Given the description of an element on the screen output the (x, y) to click on. 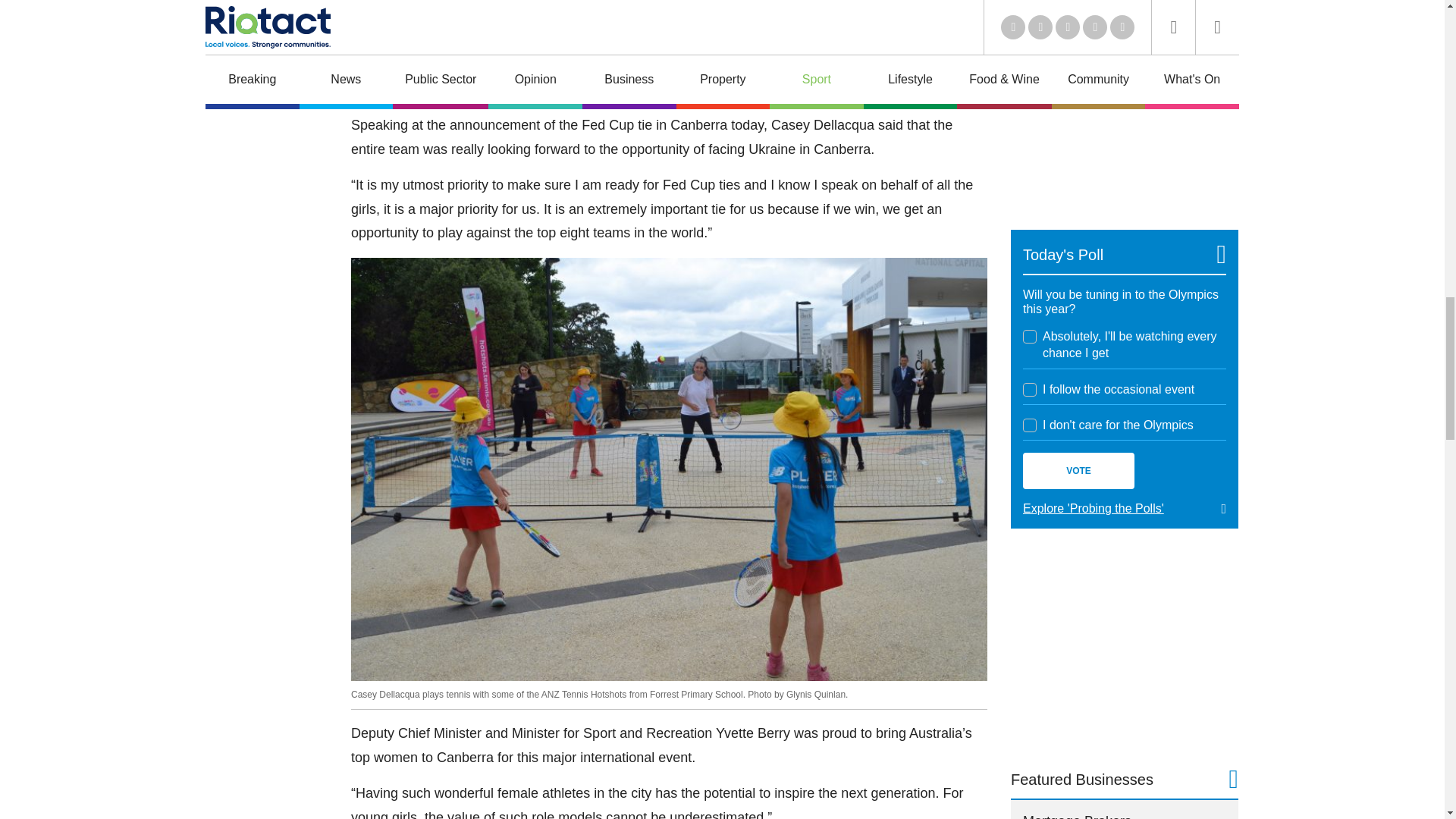
2044 (1029, 389)
3rd party ad content (1124, 647)
2045 (1029, 425)
   Vote    (1078, 470)
2043 (1029, 336)
Zango Sales (1124, 110)
